Given the description of an element on the screen output the (x, y) to click on. 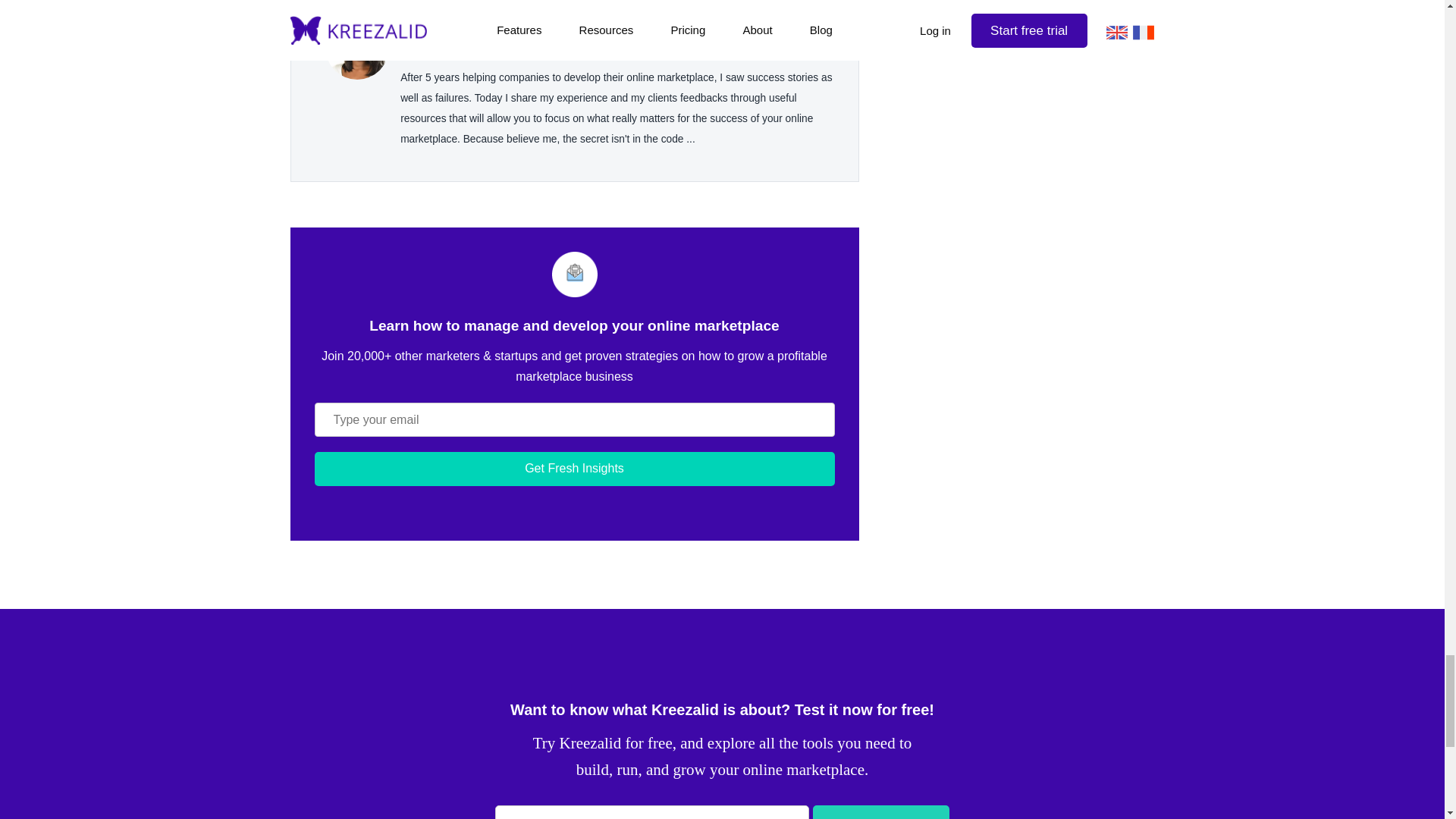
Get Fresh Insights (574, 469)
Start free trial (880, 812)
Start free trial (880, 812)
